Given the description of an element on the screen output the (x, y) to click on. 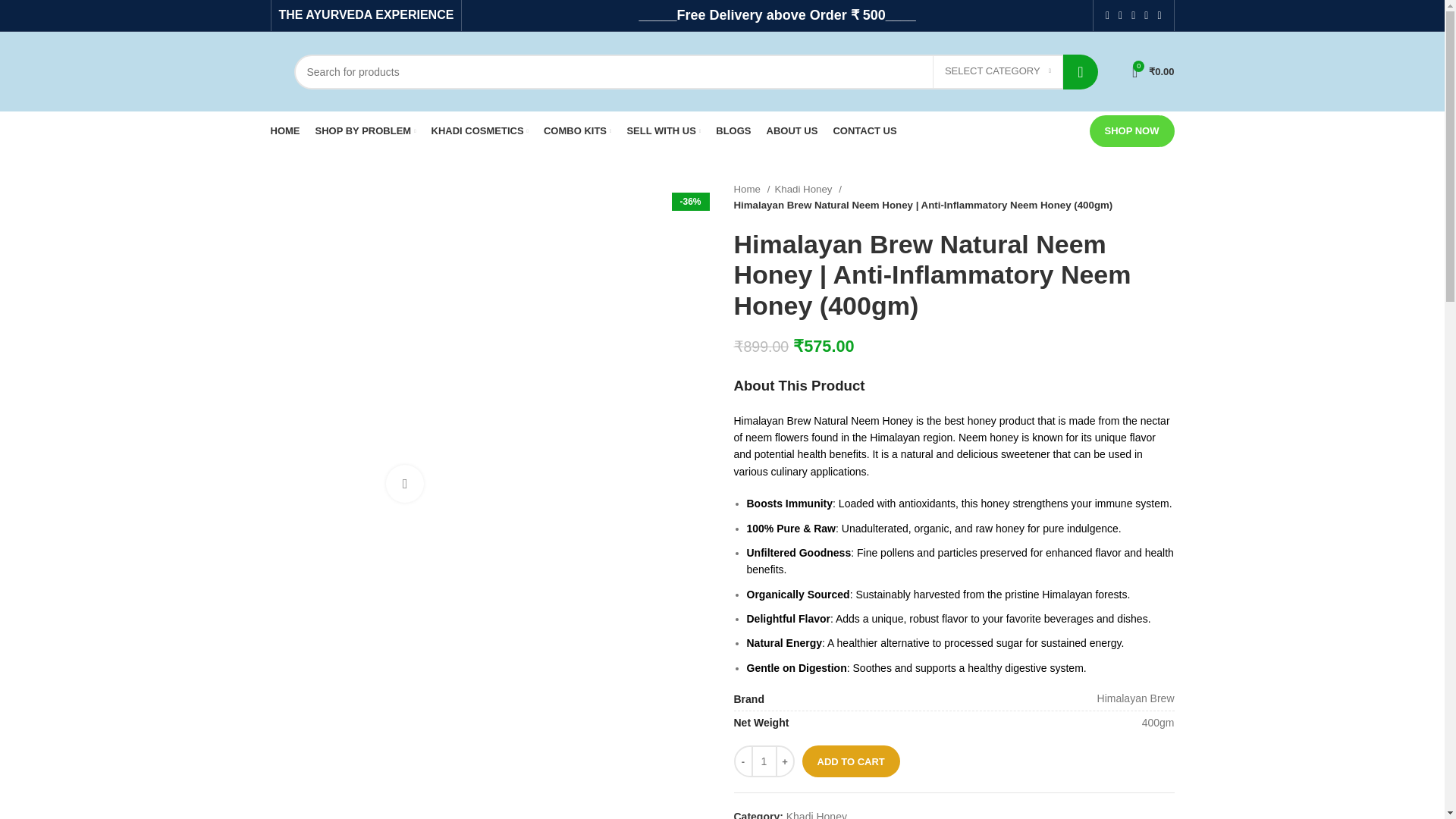
Shopping cart (1153, 71)
Search for products (695, 71)
SEARCH (1079, 71)
SELECT CATEGORY (997, 71)
SHOP BY PROBLEM (365, 131)
SELECT CATEGORY (997, 71)
HOME (284, 131)
